Given the description of an element on the screen output the (x, y) to click on. 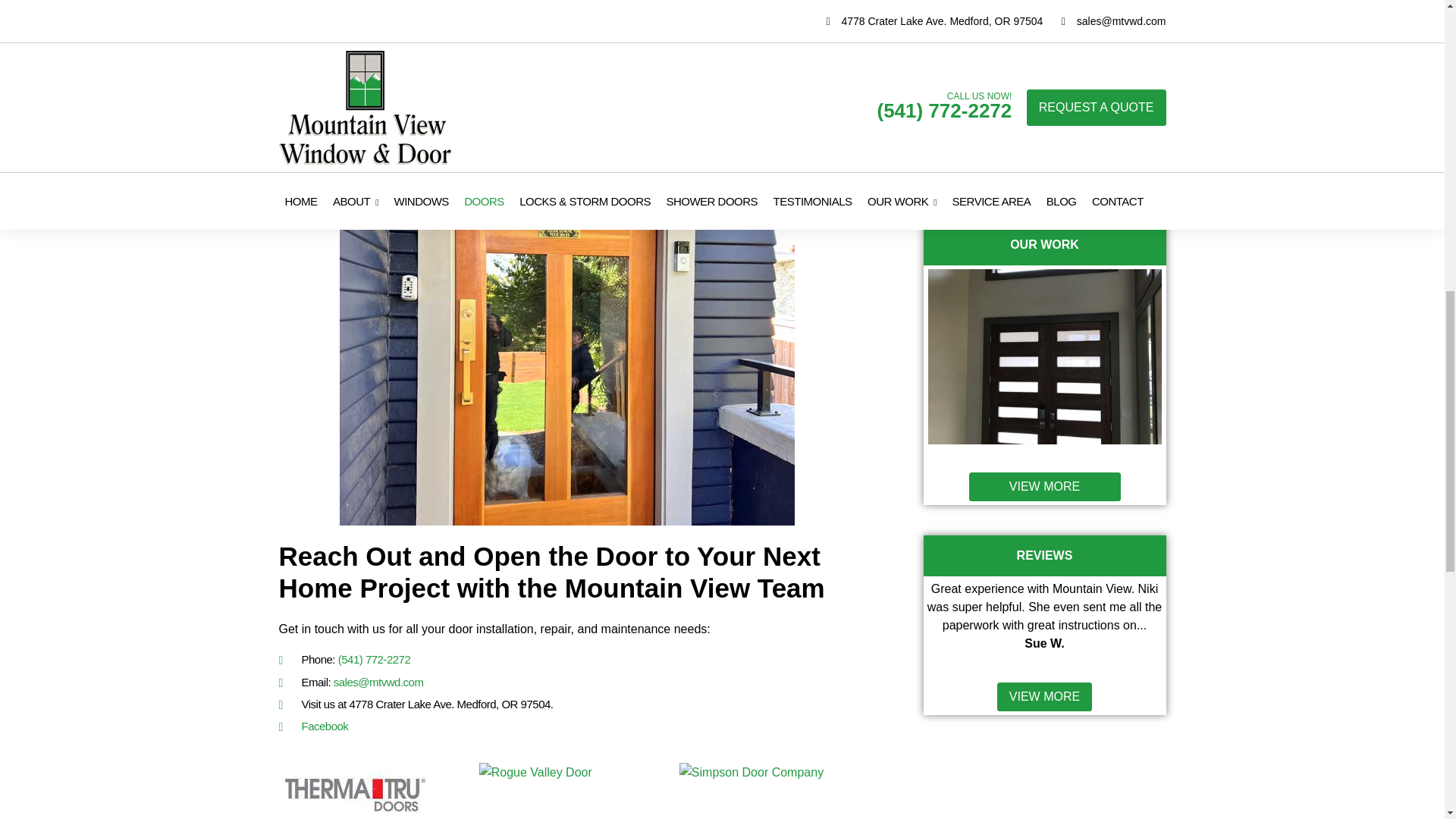
Facebook (325, 725)
Entry Doors Replacement (1044, 356)
1 (955, 148)
1 (949, 94)
